Given the description of an element on the screen output the (x, y) to click on. 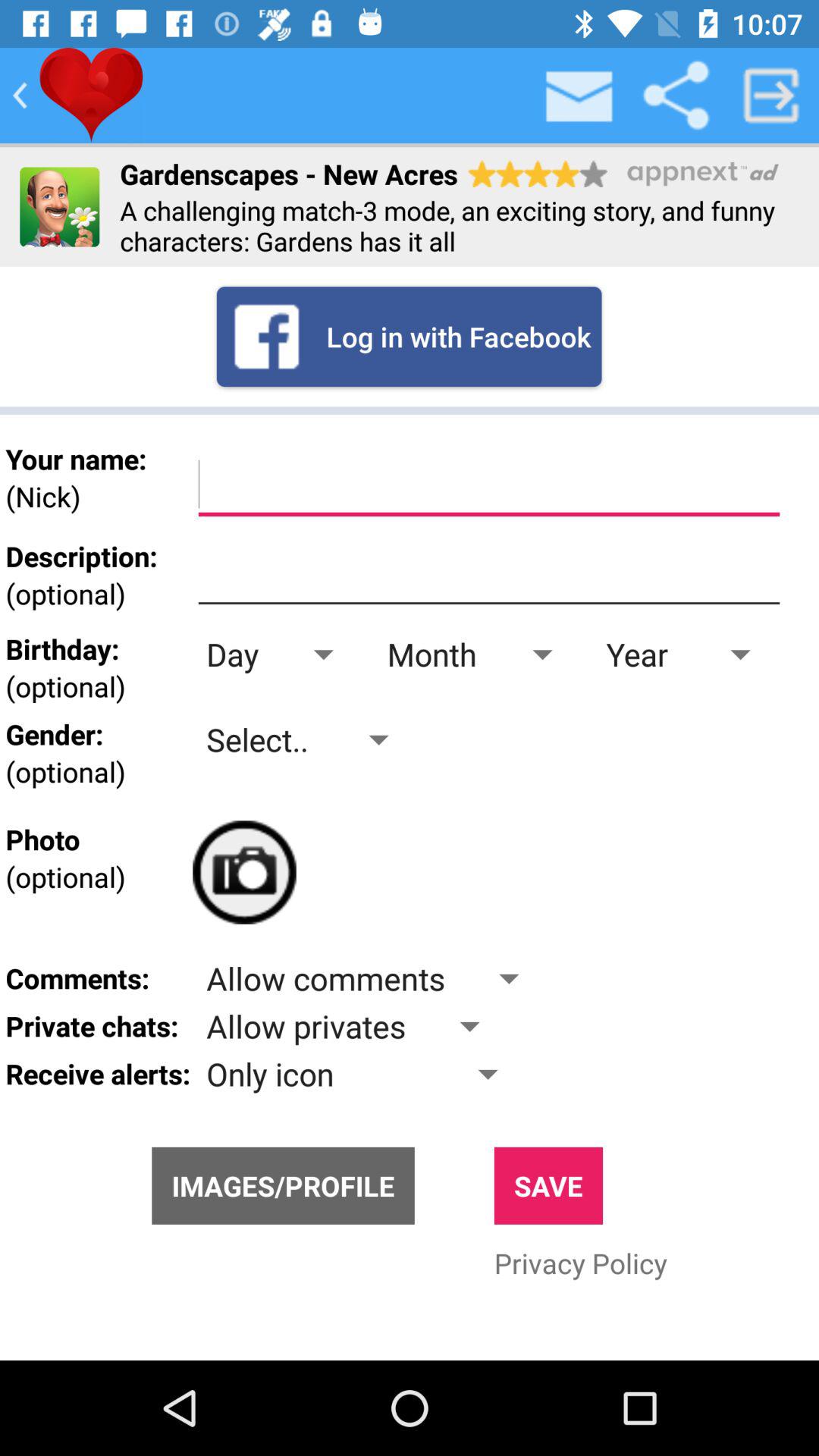
like the option (90, 95)
